Given the description of an element on the screen output the (x, y) to click on. 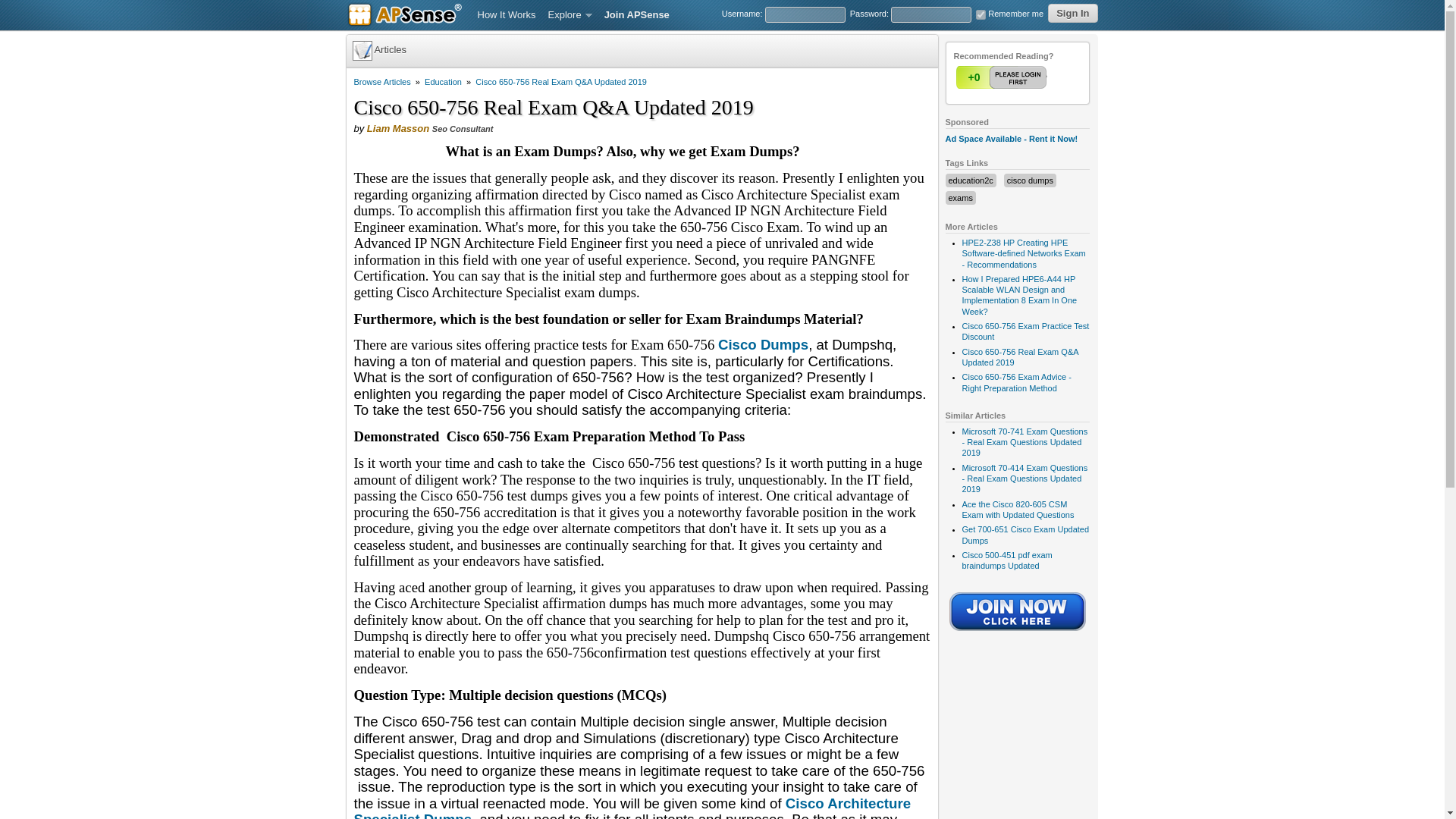
Join APSense Social Network (1017, 632)
-1 (1031, 77)
Votes Up (973, 77)
Cisco 650-756 Exam Practice Test Discount (1024, 331)
How It Works (506, 15)
Join APSense (636, 15)
Vote Up (1002, 77)
Sign In (1072, 13)
Cisco Dumps (762, 344)
education2c (969, 180)
